Given the description of an element on the screen output the (x, y) to click on. 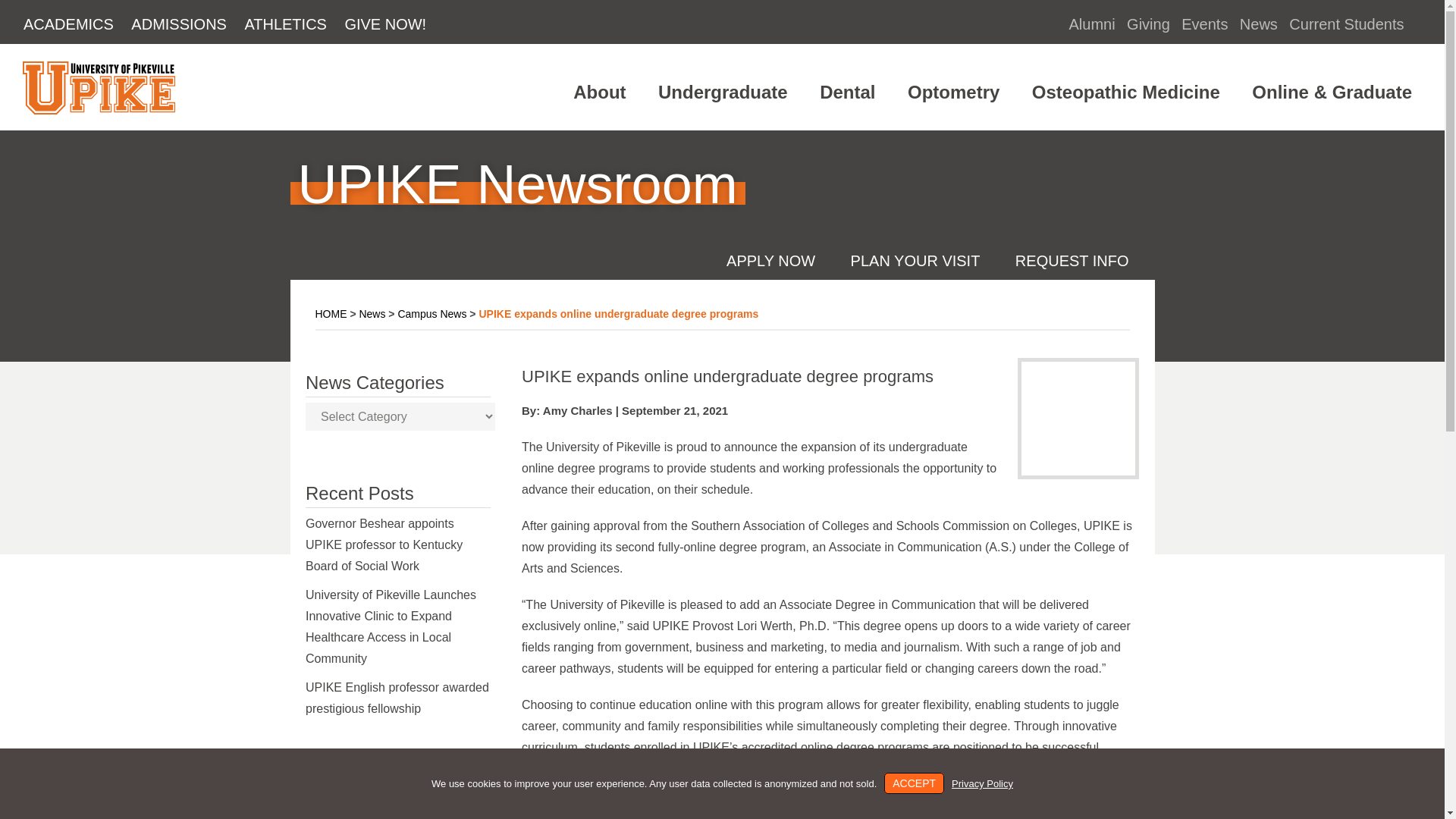
Optometry (952, 91)
Go to UPIKE. (331, 313)
Medicine (1126, 91)
Dental (847, 91)
Current Students (1345, 23)
Graduate (1332, 91)
Go to the Campus News category archives. (431, 313)
Events (1203, 23)
ADMISSIONS (177, 24)
GIVE NOW! (384, 24)
